Given the description of an element on the screen output the (x, y) to click on. 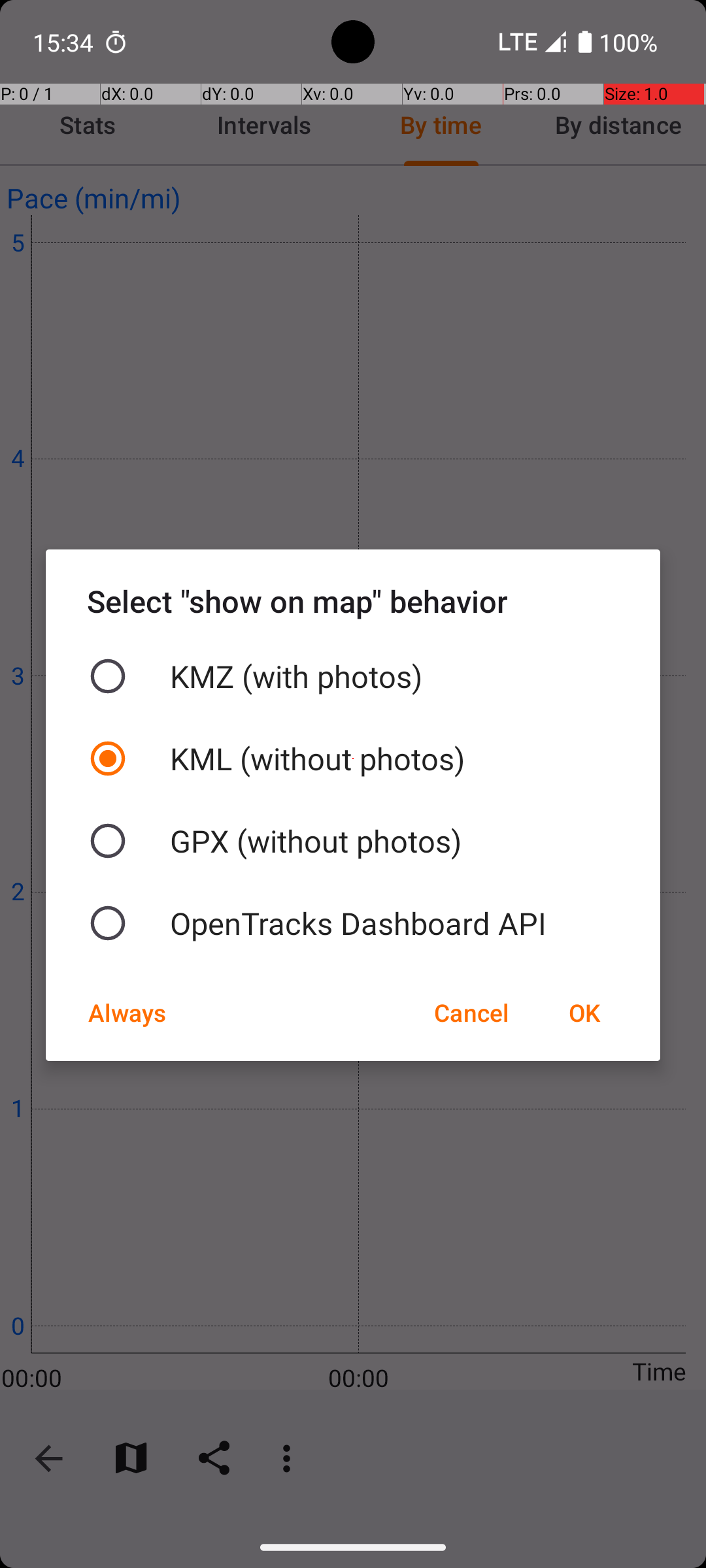
Select "show on map" behavior Element type: android.widget.TextView (352, 600)
KMZ (with photos) Element type: android.widget.CheckedTextView (352, 676)
KML (without photos) Element type: android.widget.CheckedTextView (352, 758)
GPX (without photos) Element type: android.widget.CheckedTextView (352, 840)
OpenTracks Dashboard API Element type: android.widget.CheckedTextView (352, 923)
